Given the description of an element on the screen output the (x, y) to click on. 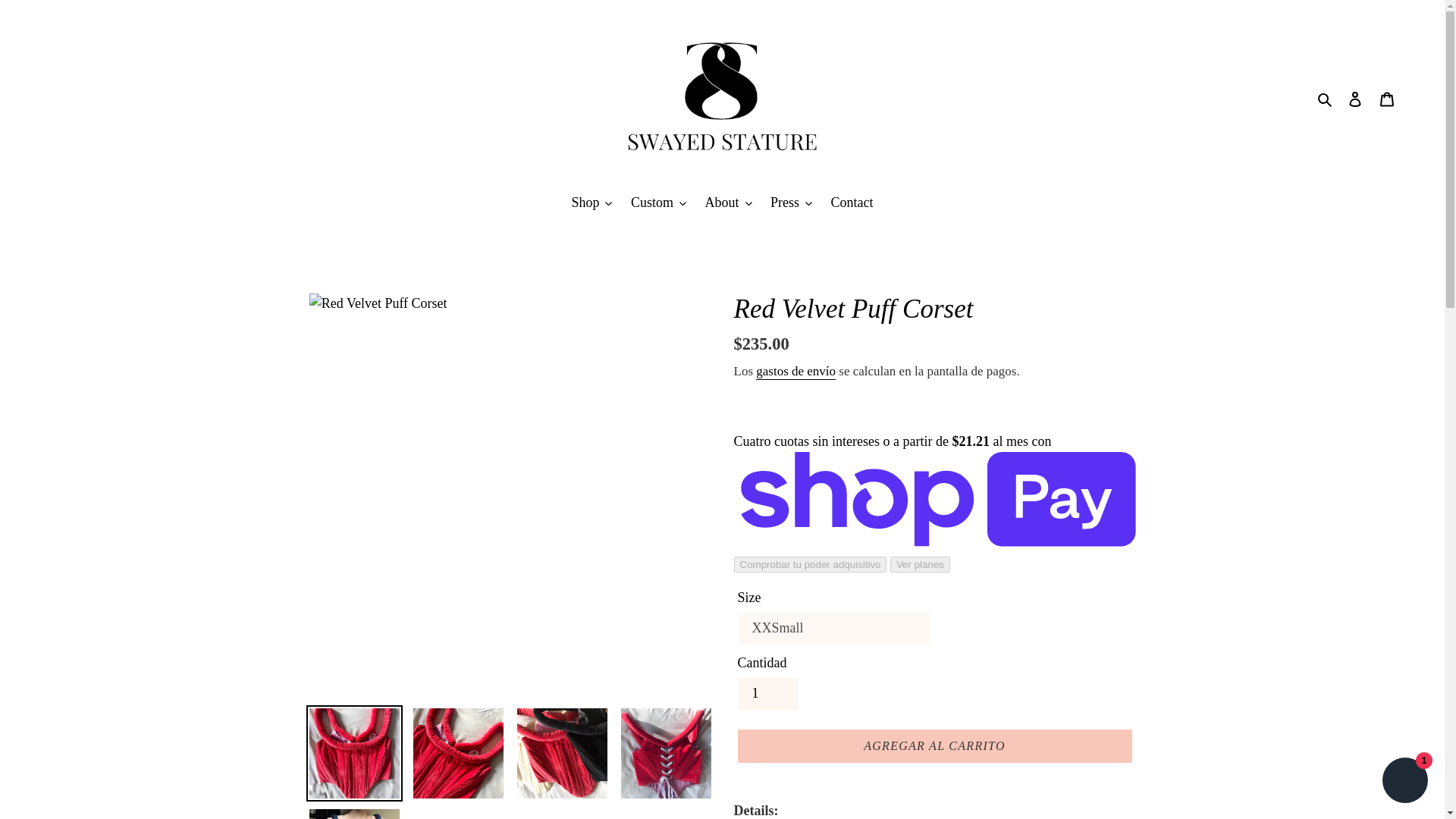
Buscar (1326, 97)
Chat de la tienda online Shopify (1404, 781)
1 (766, 693)
Carrito (1387, 98)
Ingresar (1355, 98)
